Given the description of an element on the screen output the (x, y) to click on. 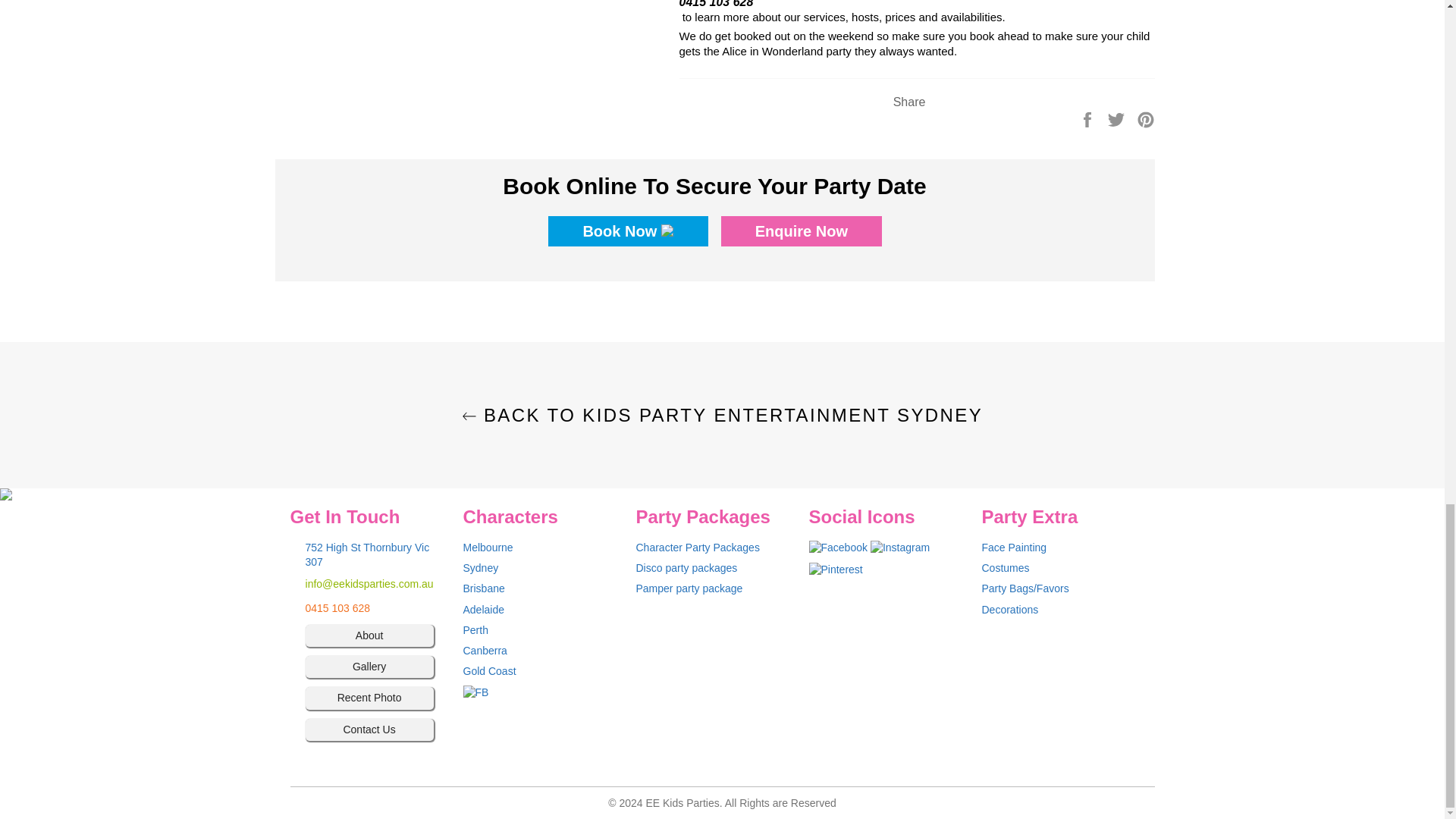
Contact Us (368, 729)
Gallery (368, 667)
Recent Photo (368, 698)
Tweet on Twitter (1117, 118)
Pin on Pinterest (1144, 118)
Share on Facebook (1088, 118)
tel:0415 103 628 (368, 608)
About (368, 635)
